Given the description of an element on the screen output the (x, y) to click on. 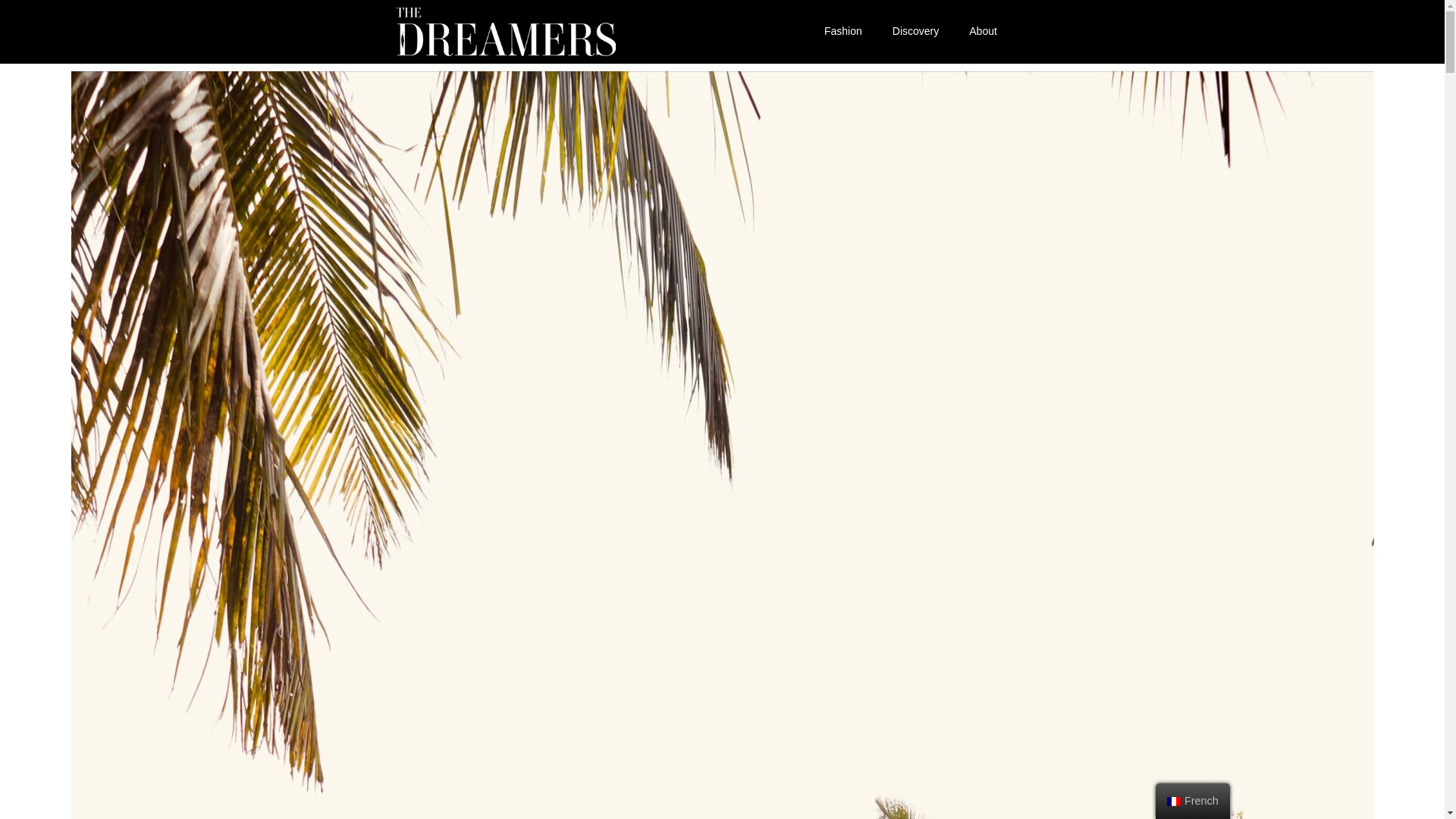
French (1173, 800)
About (982, 30)
French (1193, 800)
Discovery (915, 30)
Fashion (843, 30)
